Given the description of an element on the screen output the (x, y) to click on. 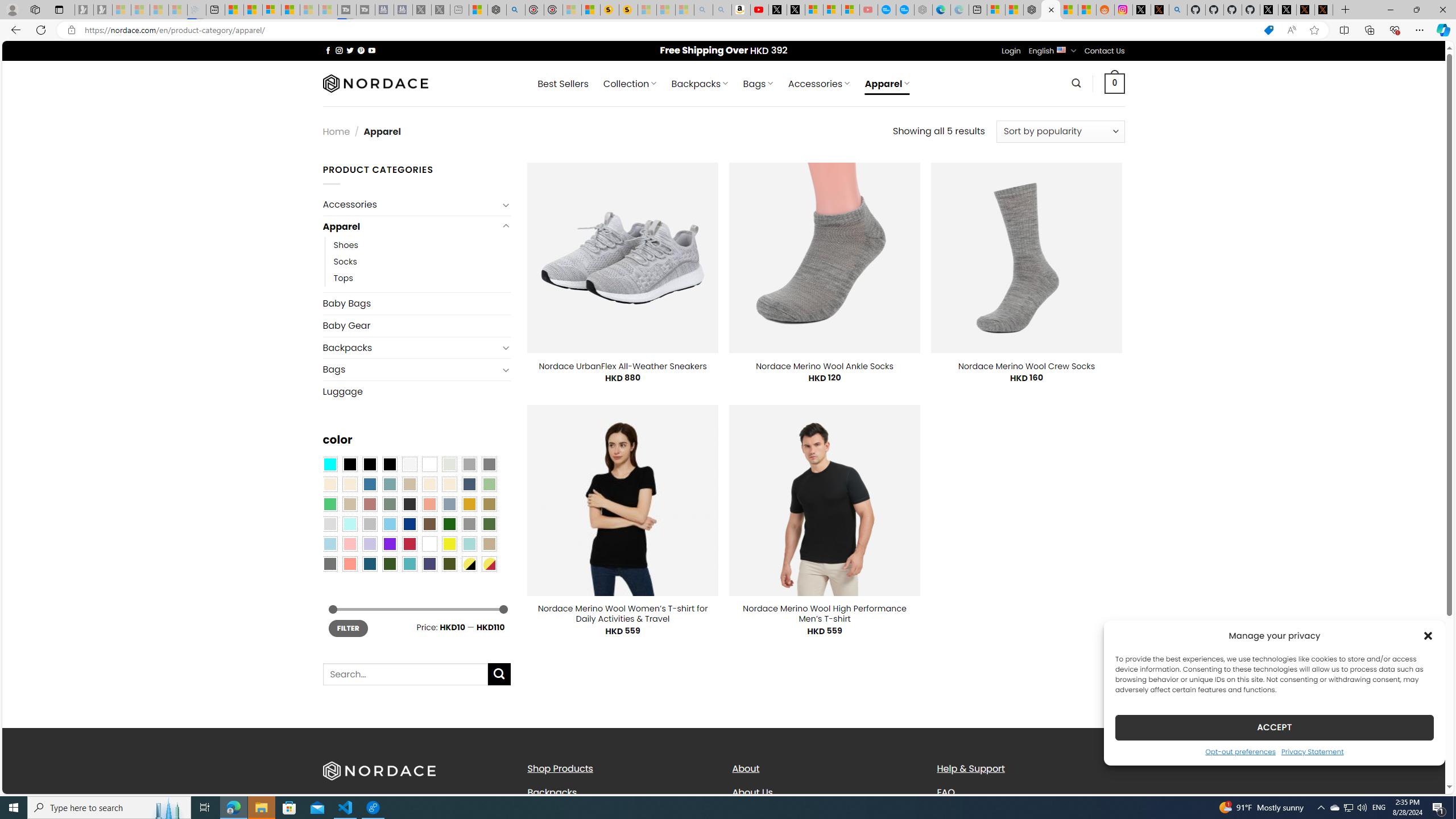
Army Green (449, 563)
Dull Nickle (329, 563)
ACCEPT (1274, 727)
Search for: (404, 674)
Clear (429, 464)
Light Blue (329, 543)
